Given the description of an element on the screen output the (x, y) to click on. 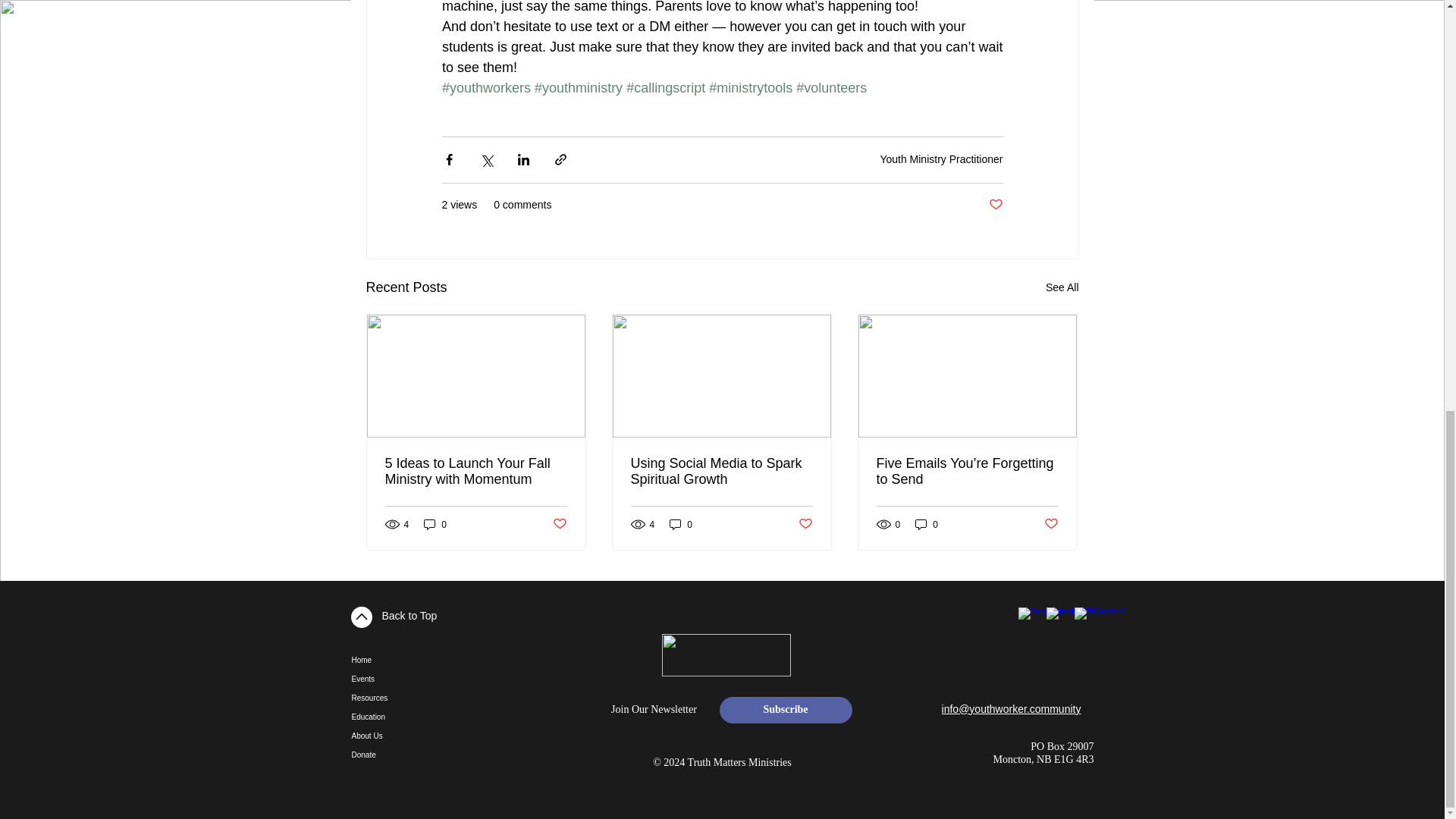
0 (435, 523)
See All (1061, 287)
5 Ideas to Launch Your Fall Ministry with Momentum (476, 471)
Post not marked as liked (995, 204)
Youth Ministry Practitioner (941, 159)
